Given the description of an element on the screen output the (x, y) to click on. 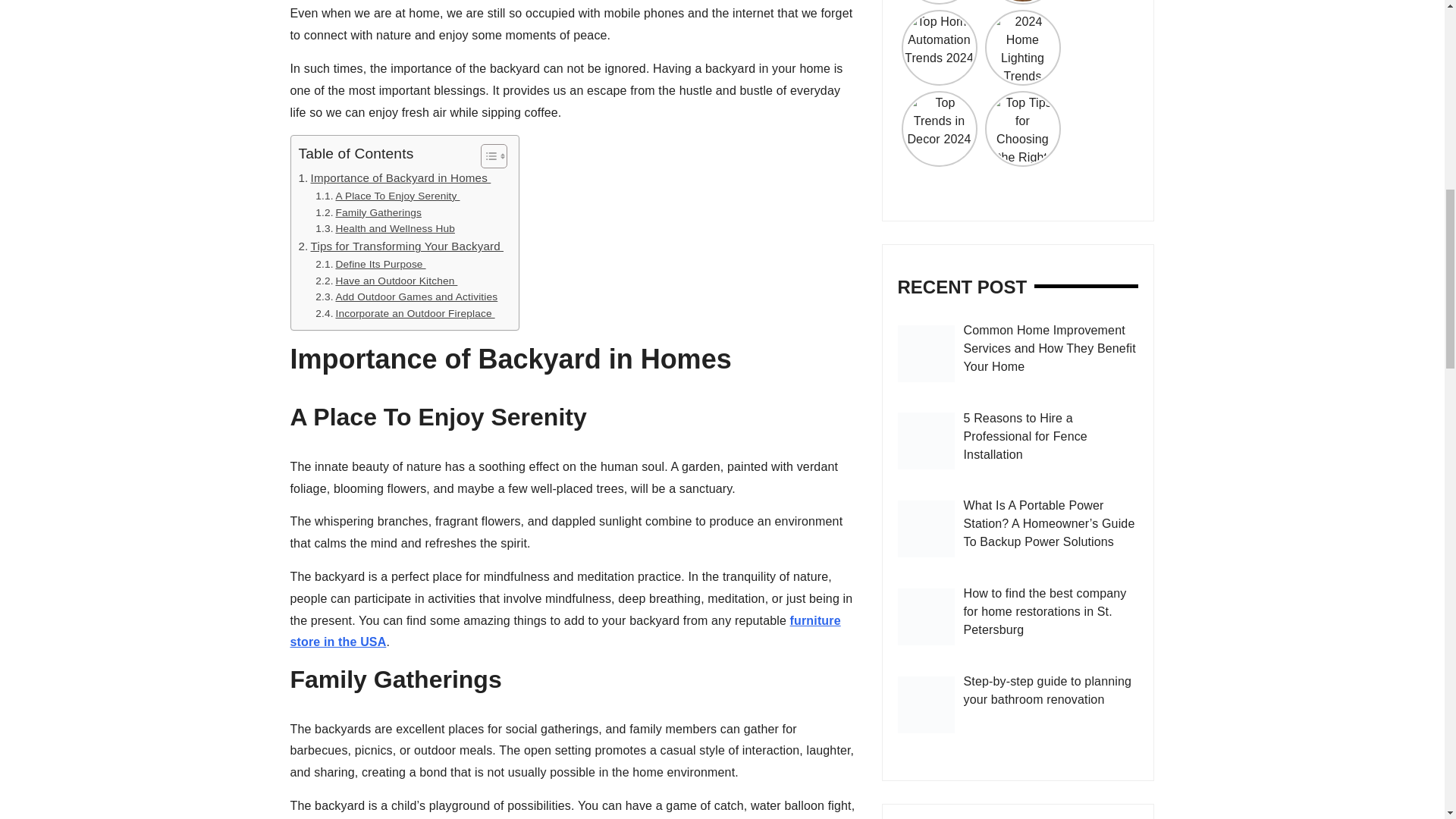
Family Gatherings (368, 212)
Family Gatherings (368, 212)
Have an Outdoor Kitchen  (386, 280)
Health and Wellness Hub (384, 228)
Incorporate an Outdoor Fireplace  (405, 313)
A Place To Enjoy Serenity  (387, 196)
Tips for Transforming Your Backyard  (400, 246)
